Given the description of an element on the screen output the (x, y) to click on. 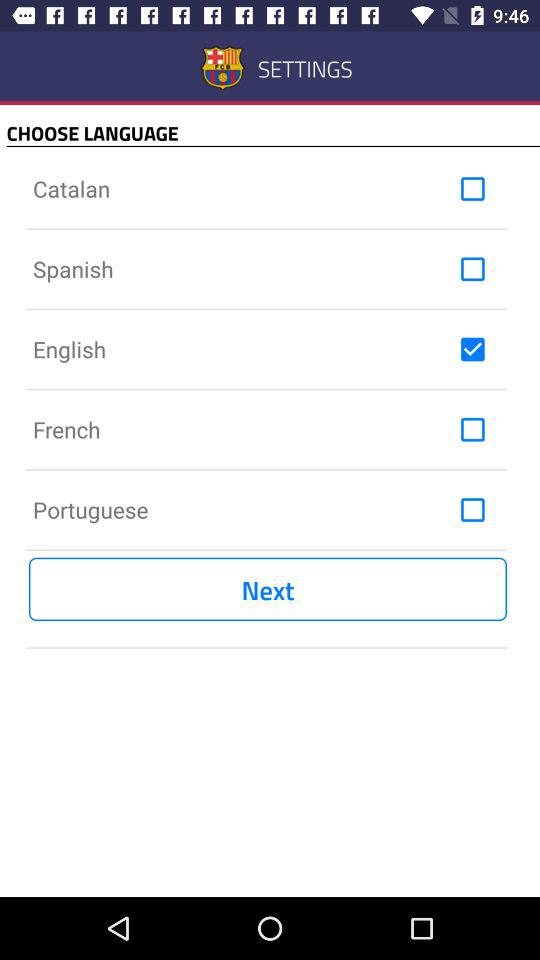
select option (472, 189)
